Given the description of an element on the screen output the (x, y) to click on. 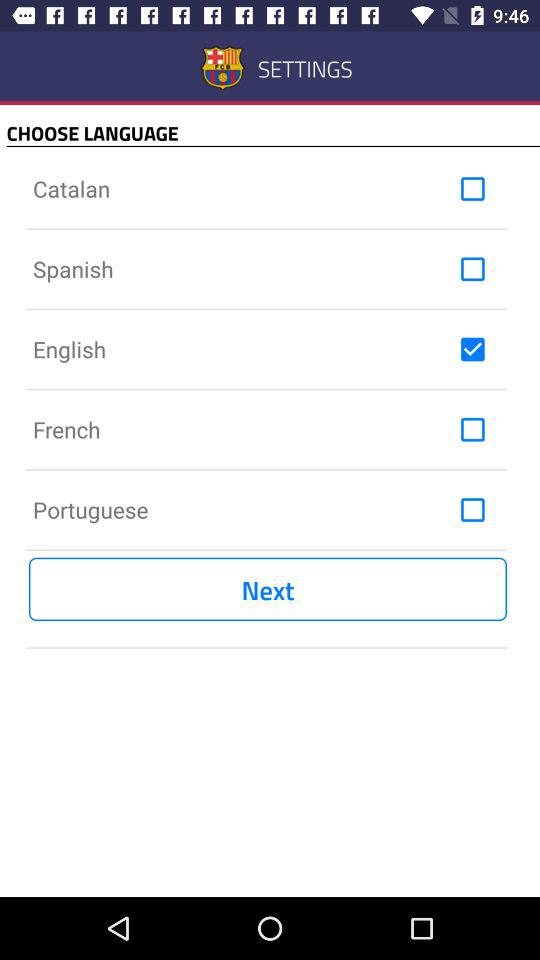
select option (472, 189)
